Given the description of an element on the screen output the (x, y) to click on. 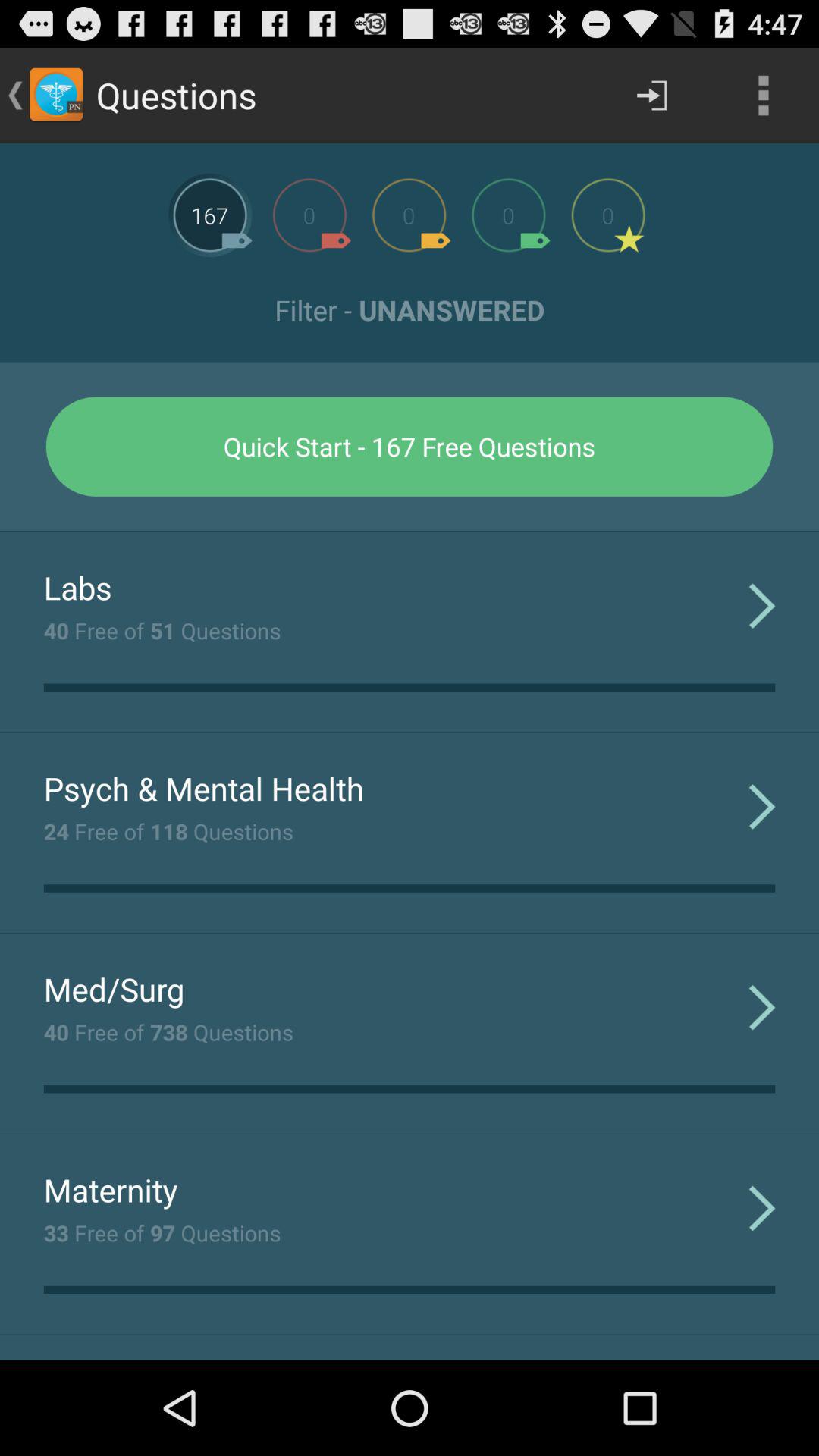
click on 167 (209, 215)
